Given the description of an element on the screen output the (x, y) to click on. 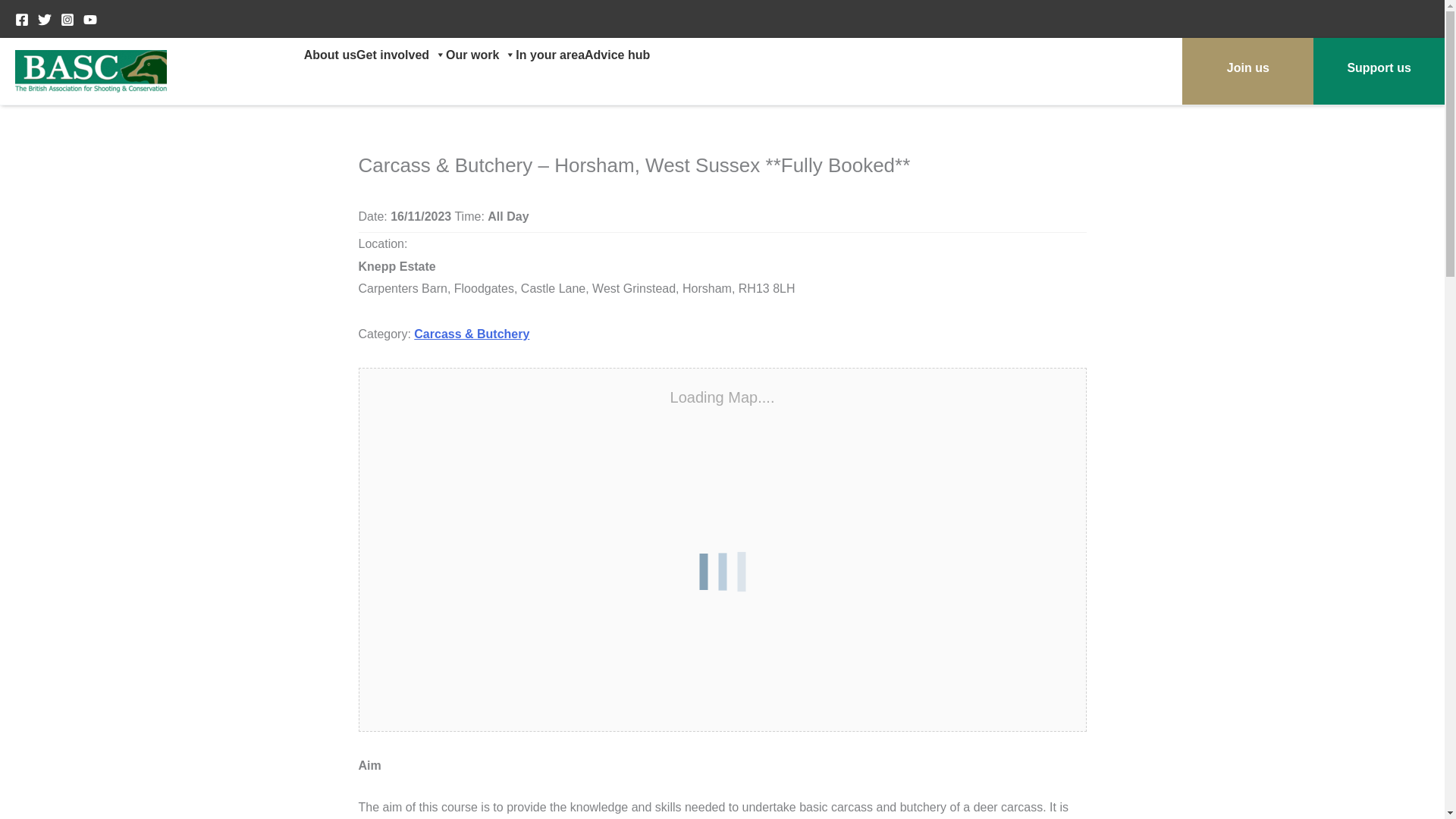
About us (330, 54)
Our work (480, 54)
Get involved (400, 54)
